Given the description of an element on the screen output the (x, y) to click on. 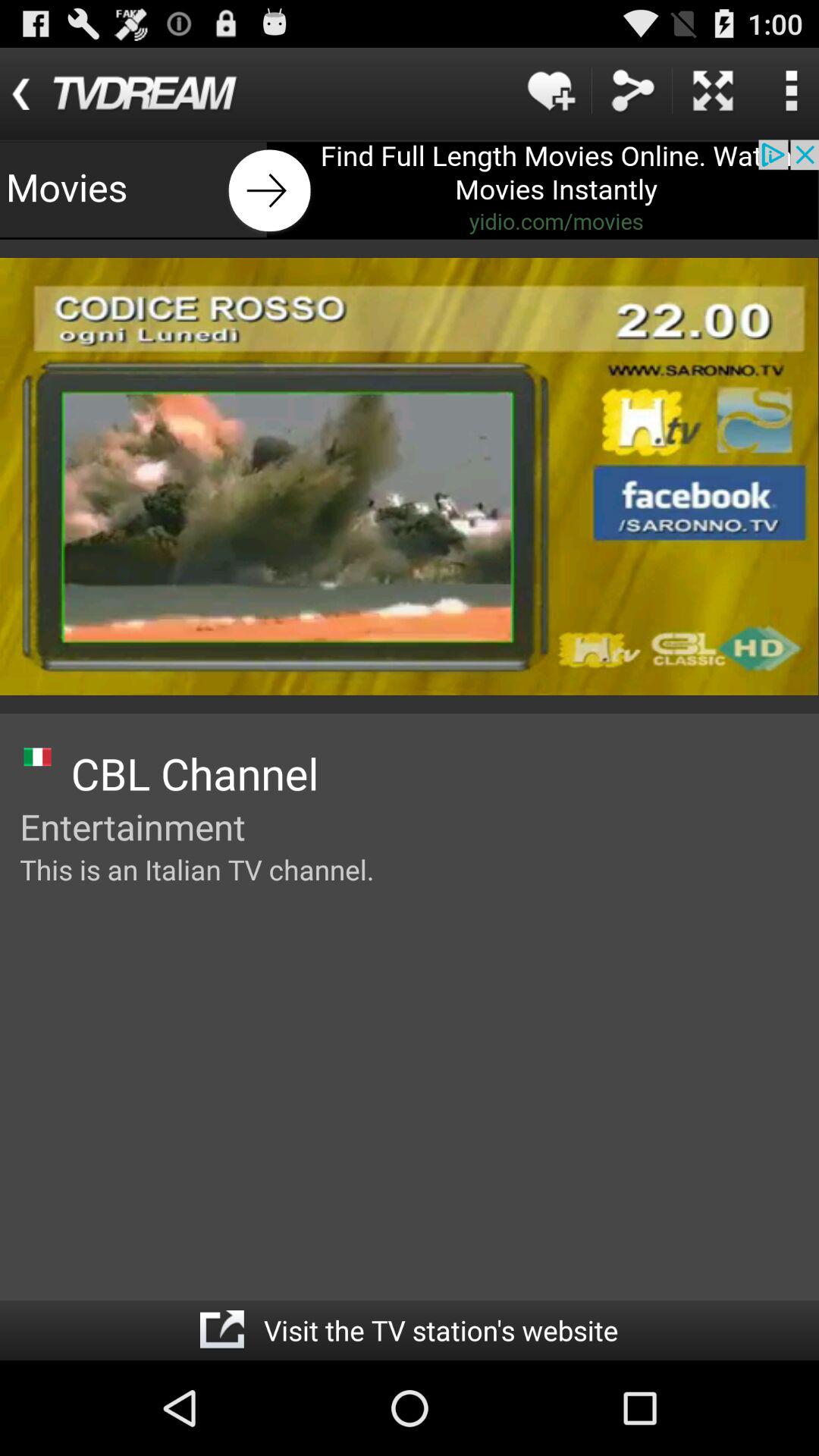
enter full screen video (712, 90)
